Given the description of an element on the screen output the (x, y) to click on. 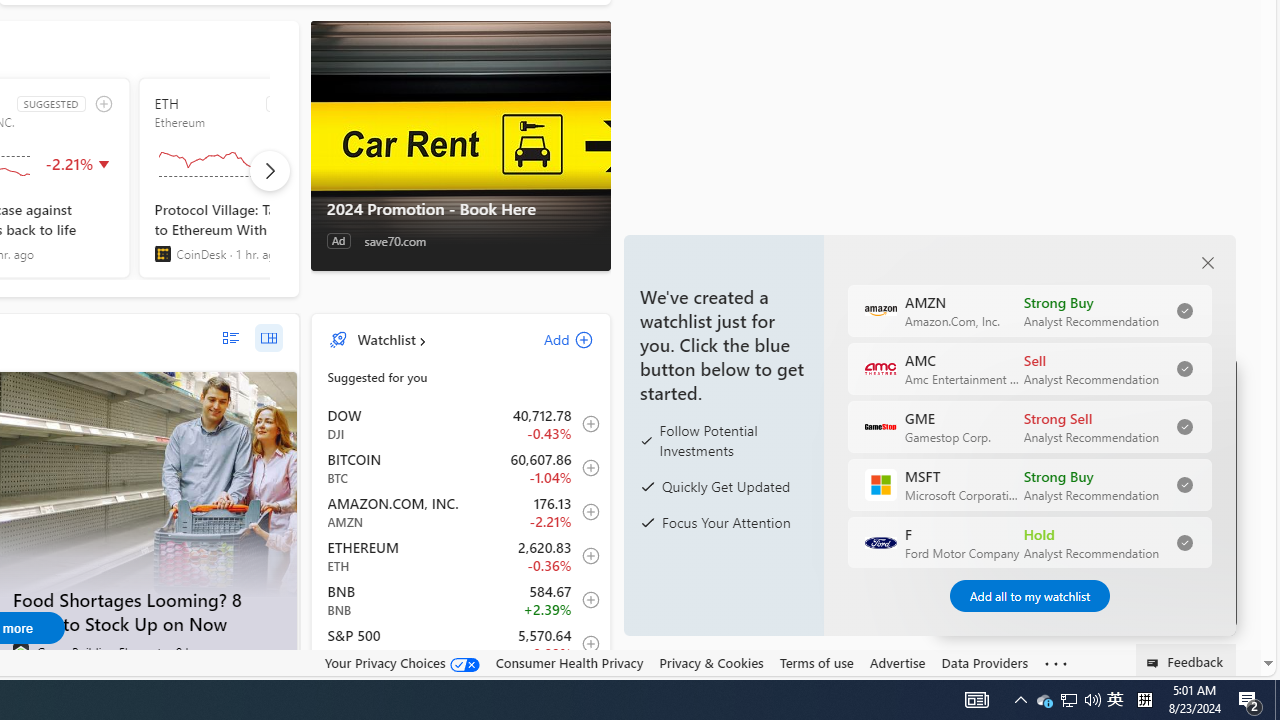
Privacy & Cookies (711, 663)
list layout (230, 338)
Green Building Elements (20, 651)
Ad (338, 241)
Your Privacy Choices (401, 662)
Advertise (897, 663)
Watchlist (386, 339)
BNB BNB increase 584.67 +13.99 +2.39% item4 (461, 600)
Feedback (1186, 659)
Terms of use (816, 663)
See more (1055, 664)
